Given the description of an element on the screen output the (x, y) to click on. 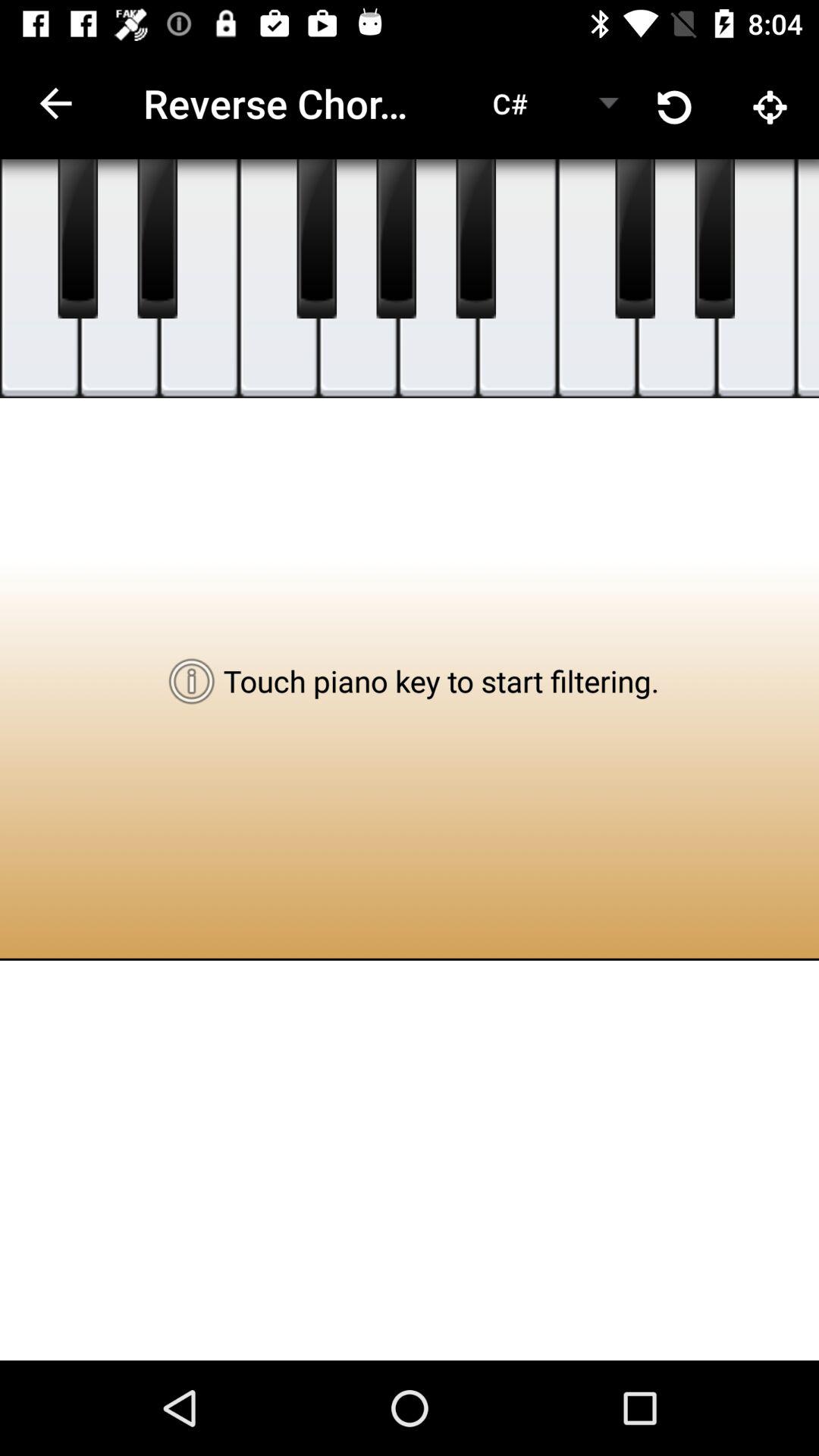
music buttons (316, 238)
